Given the description of an element on the screen output the (x, y) to click on. 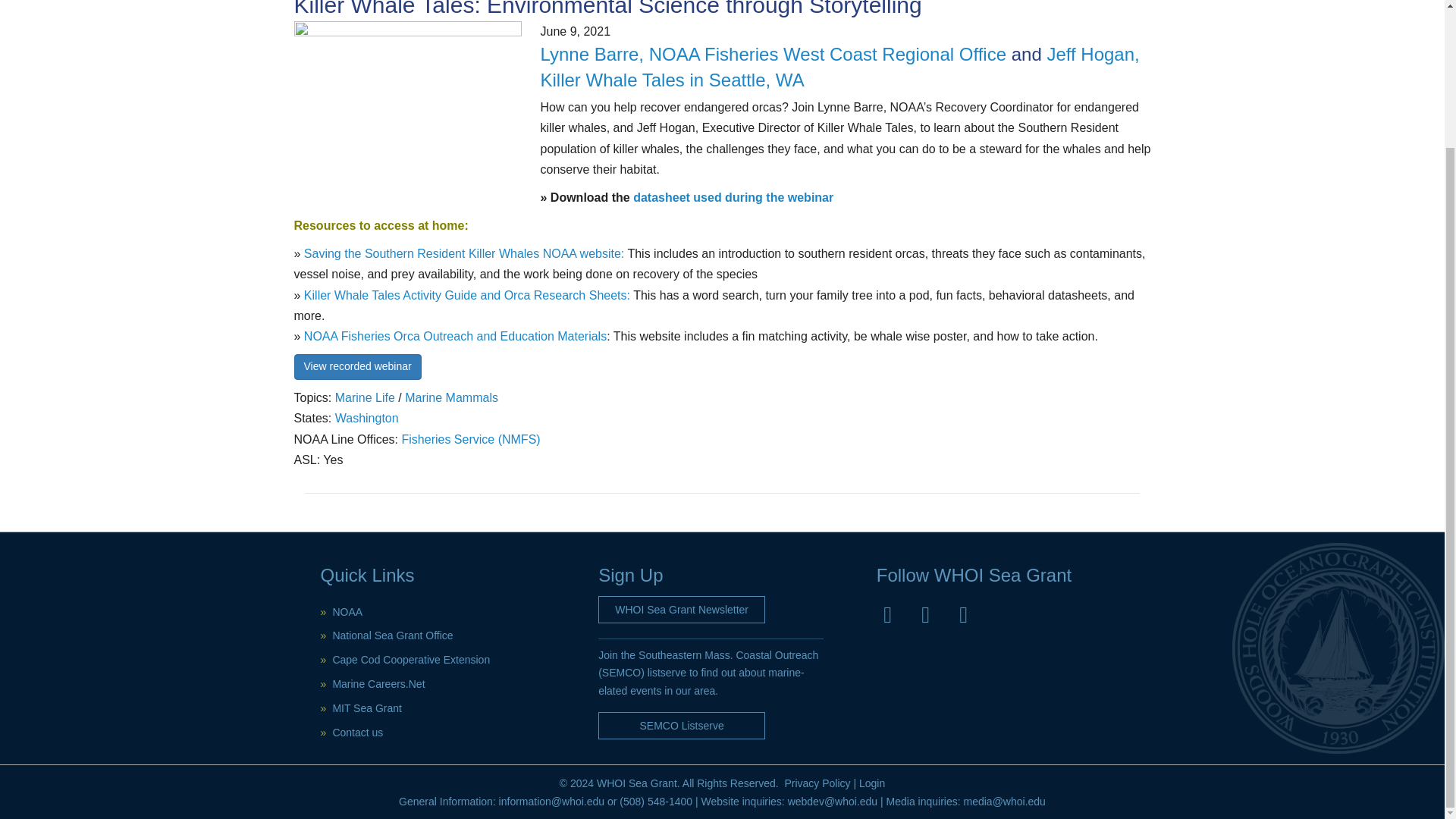
Twitter (925, 614)
Instagram (963, 614)
Facebook (887, 614)
Contact Us (356, 732)
